Given the description of an element on the screen output the (x, y) to click on. 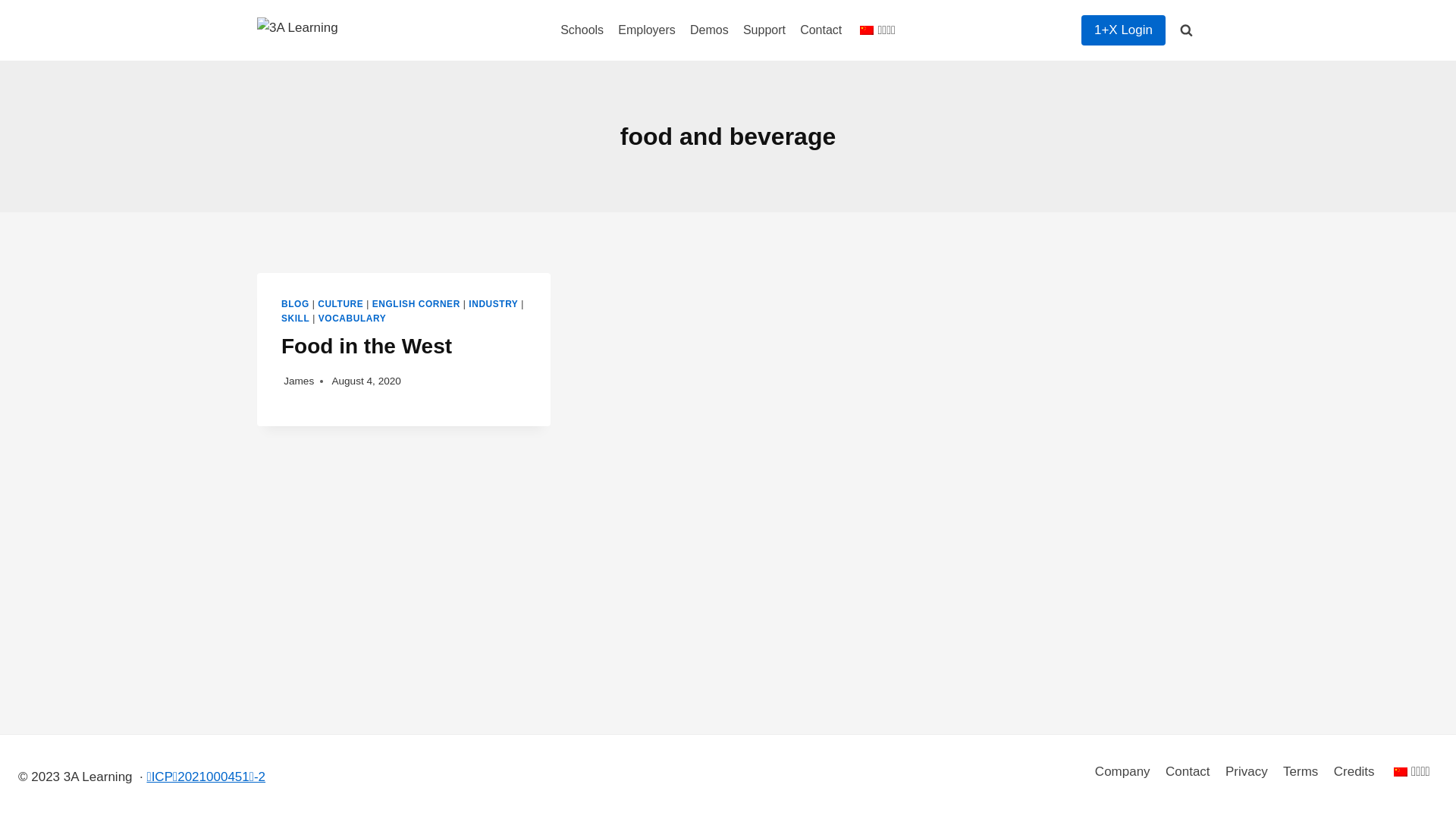
Employers Element type: text (647, 30)
ENGLISH CORNER Element type: text (416, 303)
VOCABULARY Element type: text (351, 318)
CULTURE Element type: text (340, 303)
James Element type: text (298, 380)
Credits Element type: text (1354, 771)
Food in the West Element type: text (366, 345)
Support Element type: text (763, 30)
SKILL Element type: text (295, 318)
Contact Element type: text (1187, 771)
Schools Element type: text (582, 30)
Privacy Element type: text (1246, 771)
INDUSTRY Element type: text (492, 303)
Contact Element type: text (821, 30)
1+X Login Element type: text (1123, 30)
Terms Element type: text (1300, 771)
BLOG Element type: text (295, 303)
Demos Element type: text (708, 30)
Company Element type: text (1122, 771)
